Given the description of an element on the screen output the (x, y) to click on. 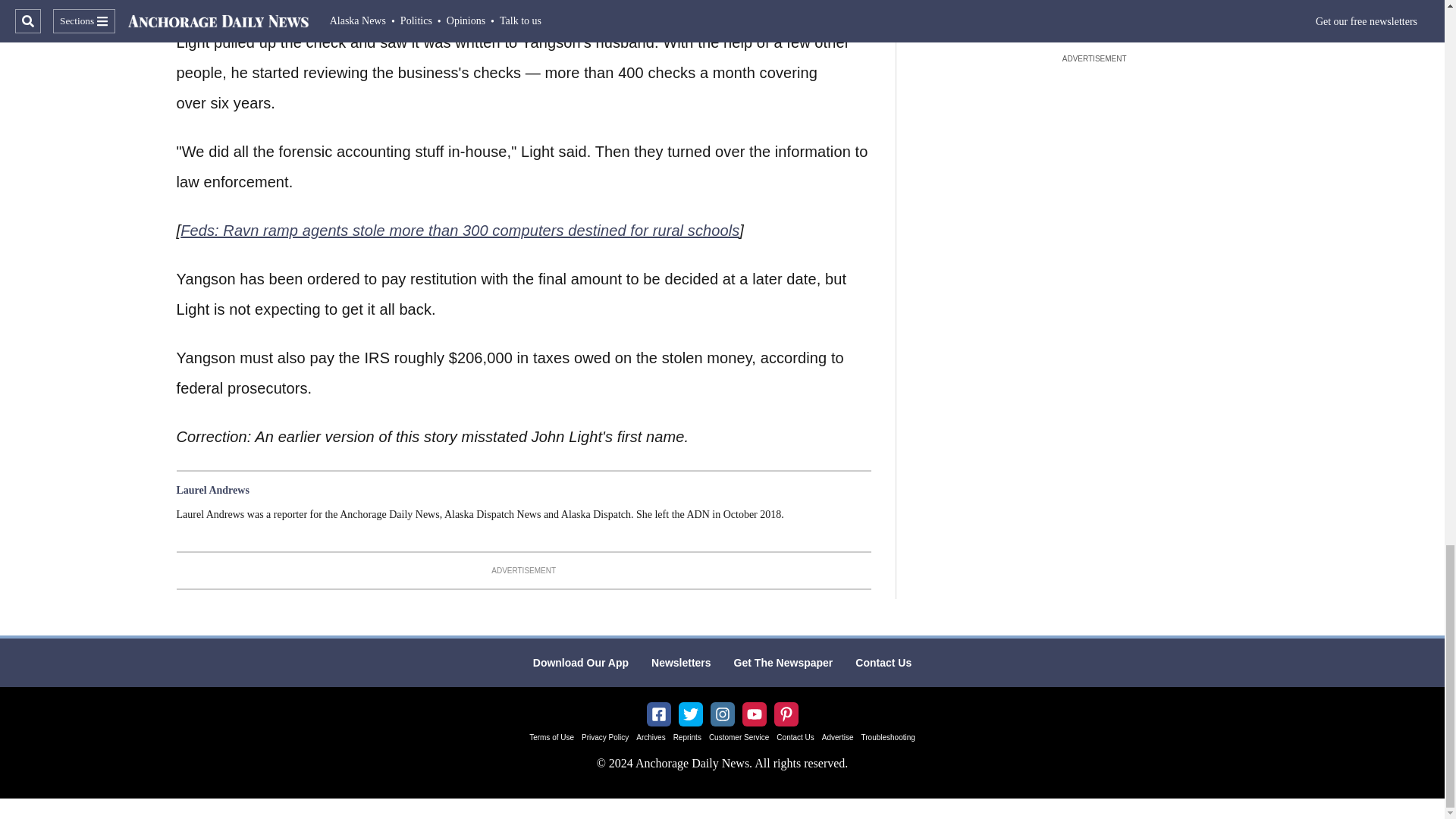
YouTube iconAnchorage Daily News YouTube channel (753, 713)
Instagram IconAnchorage Daily News instagram account (721, 713)
Twitter IconTwitter Account for Anchorage Daily News (689, 713)
Facebook IconAnchorage Daily News Facebook Page (657, 713)
PinterestAnchorage Daily News Pinterest Account (785, 713)
